Given the description of an element on the screen output the (x, y) to click on. 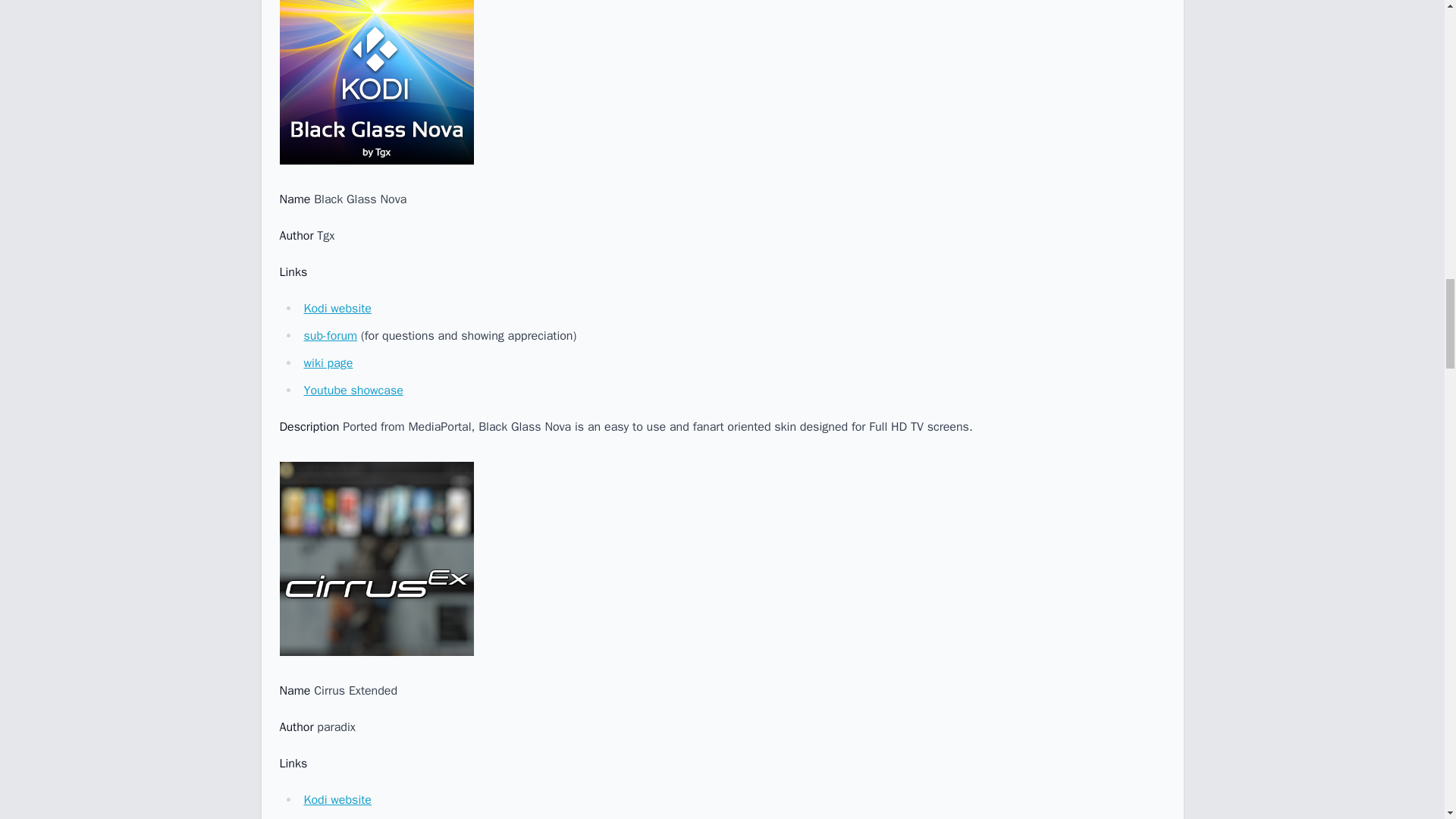
Kodi website (336, 799)
Youtube showcase (352, 390)
Kodi website (336, 308)
wiki page (327, 363)
sub-forum (329, 335)
